Given the description of an element on the screen output the (x, y) to click on. 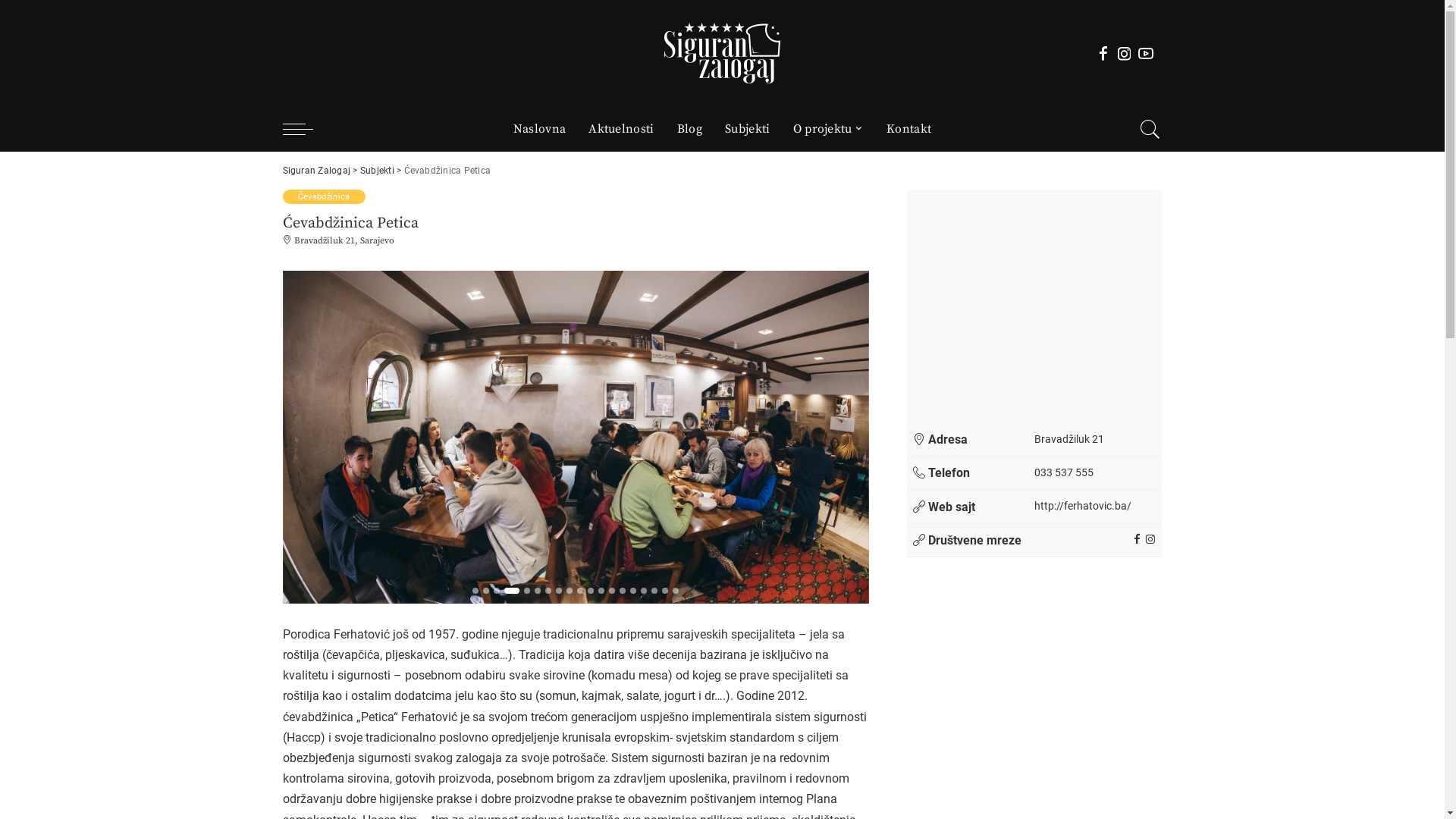
Siguran Zalogaj Element type: text (316, 170)
Pretraga Element type: text (1140, 182)
O projektu Element type: text (828, 128)
Naslovna Element type: text (539, 128)
Pretraga Element type: text (1140, 30)
Subjekti Element type: text (747, 128)
Blog Element type: text (689, 128)
http://ferhatovic.ba/ Element type: text (1082, 506)
Siguran Zalogaj Element type: hover (721, 53)
Aktuelnosti Element type: text (621, 128)
Kontakt Element type: text (908, 128)
Subjekti Element type: text (377, 170)
